Given the description of an element on the screen output the (x, y) to click on. 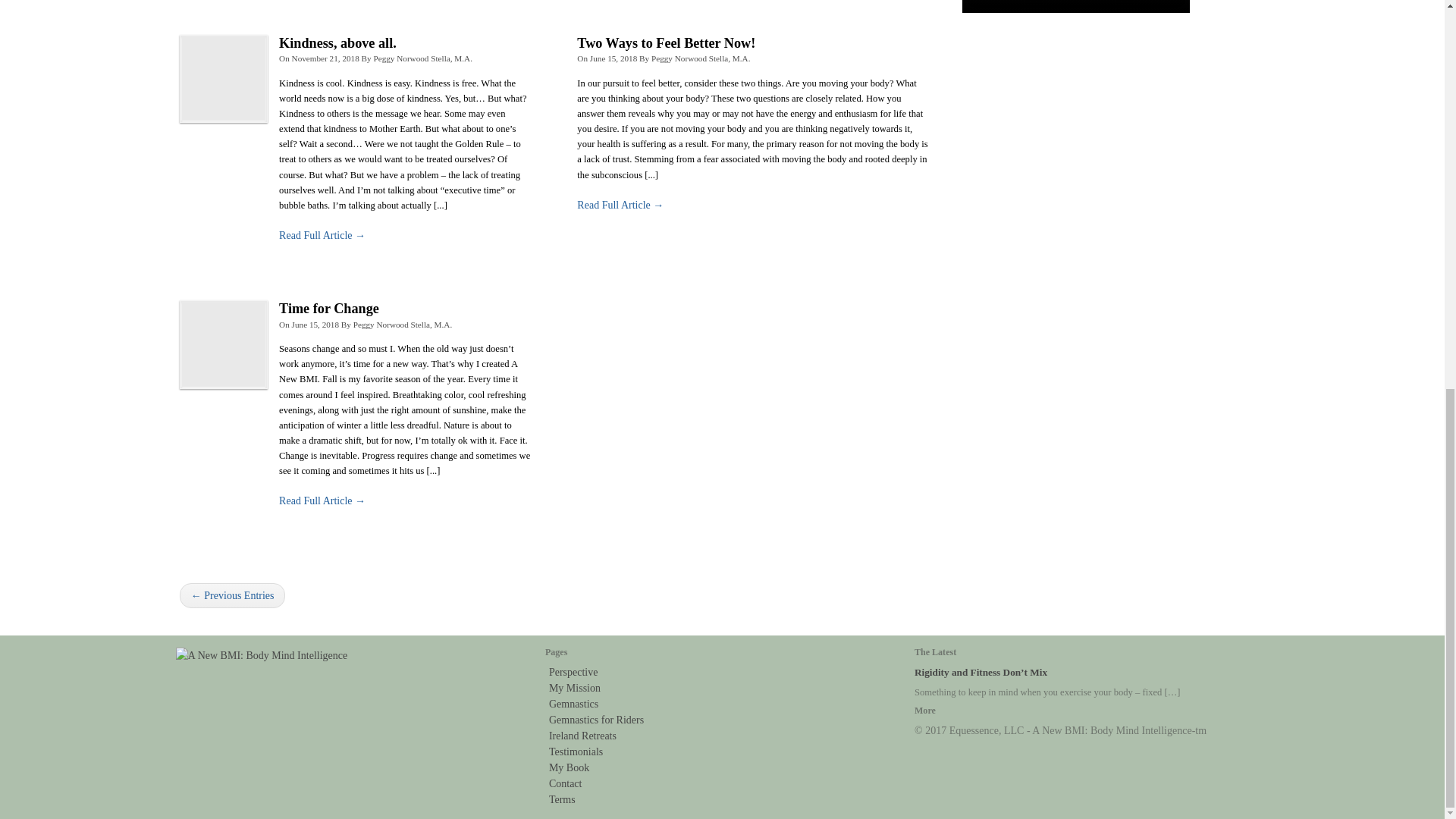
Peggy Norwood Stella, M.A. (402, 324)
Posts by Peggy Norwood Stella, M.A. (421, 58)
Kindness, above all. (337, 43)
Peggy Norwood Stella, M.A. (700, 58)
Two Ways to Feel Better Now! (665, 43)
Two Ways to Feel Better Now! (665, 43)
Time for Change (328, 308)
Kindness, above all. (337, 43)
Peggy Norwood Stella, M.A. (421, 58)
Link To Kindness, above all. (223, 78)
Posts by Peggy Norwood Stella, M.A. (700, 58)
View Kindness, above all. (322, 235)
